Given the description of an element on the screen output the (x, y) to click on. 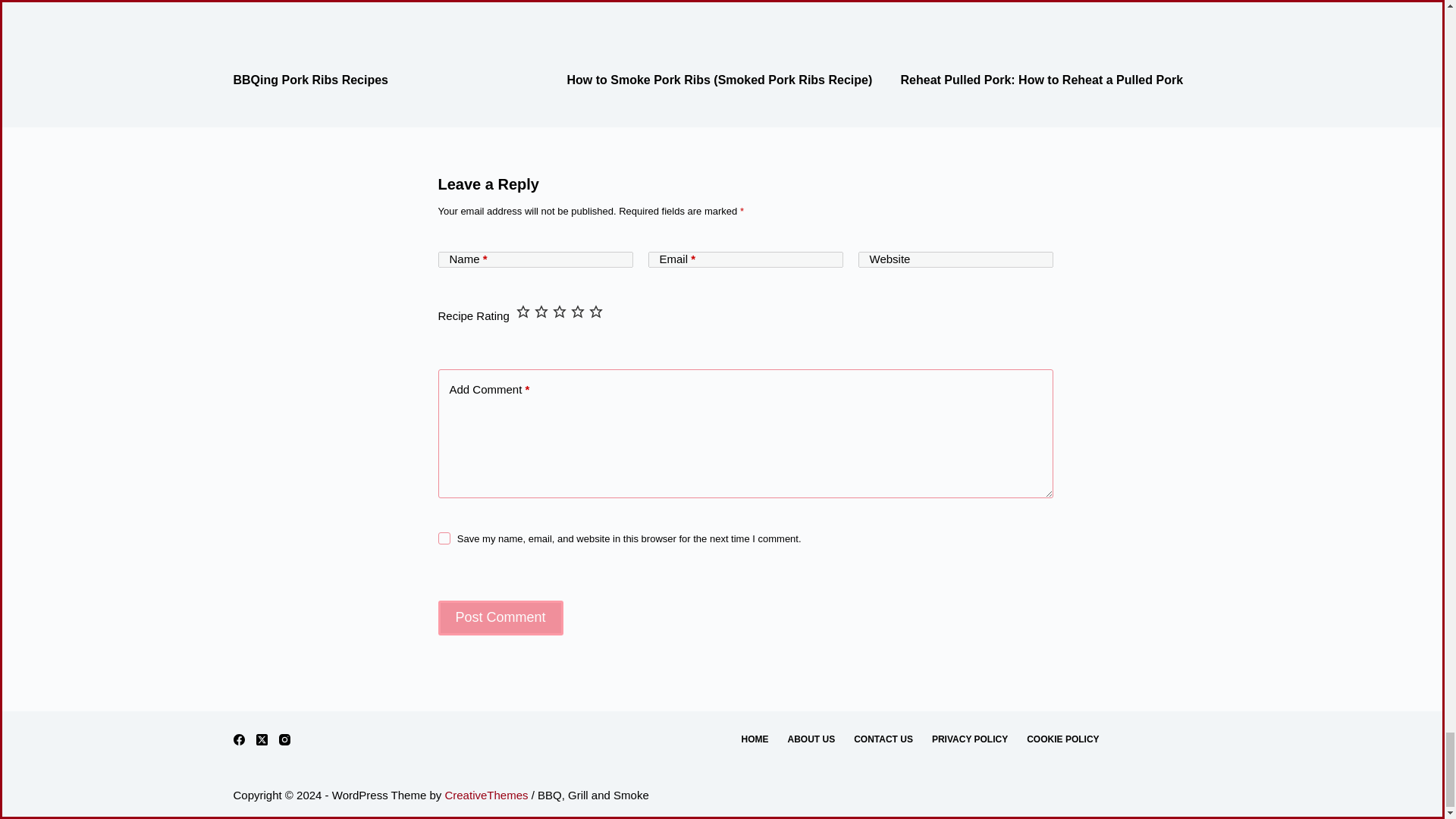
yes (443, 538)
